Given the description of an element on the screen output the (x, y) to click on. 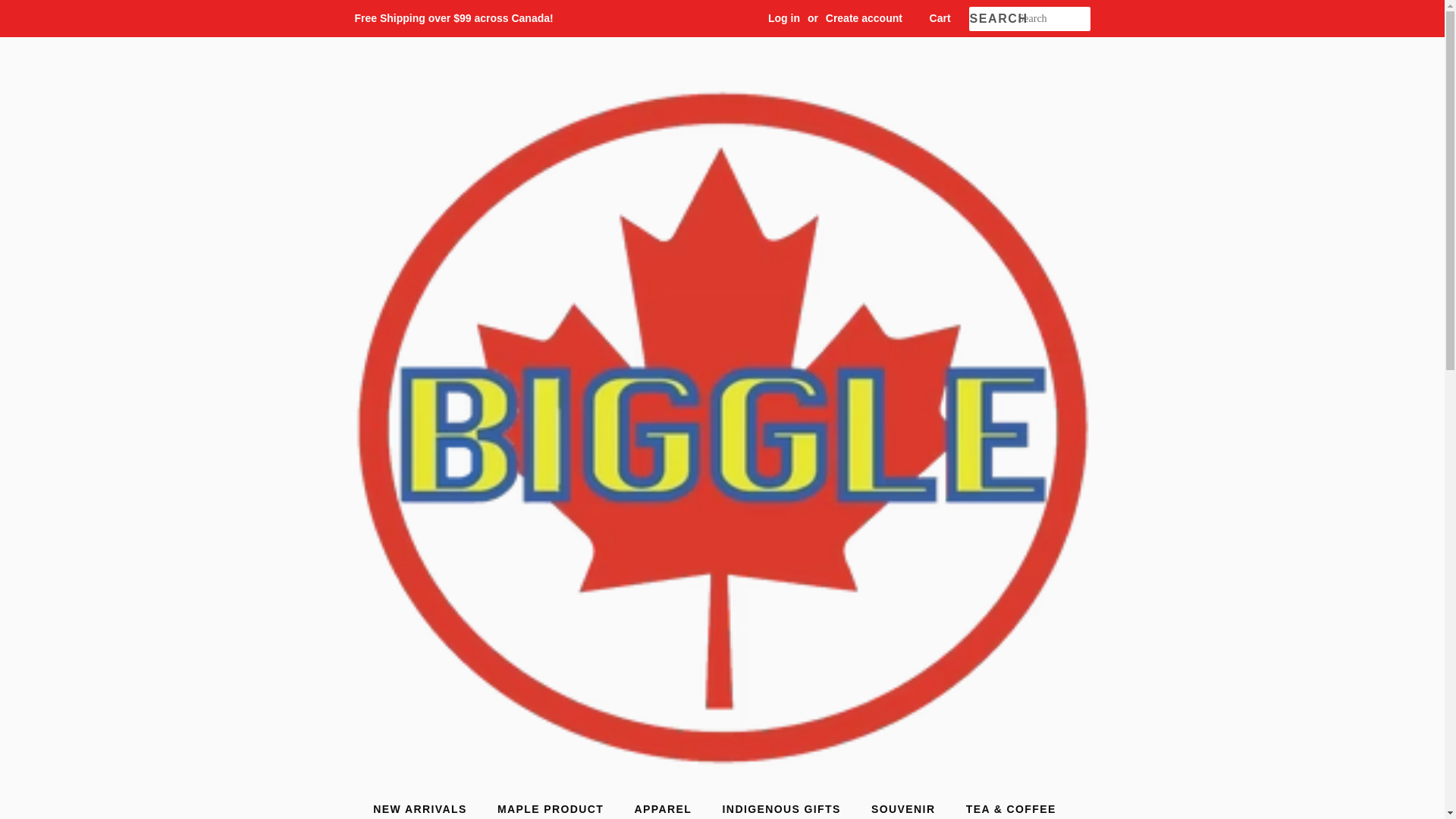
SEARCH (993, 18)
Cart (940, 18)
Create account (863, 18)
Log in (783, 18)
